Given the description of an element on the screen output the (x, y) to click on. 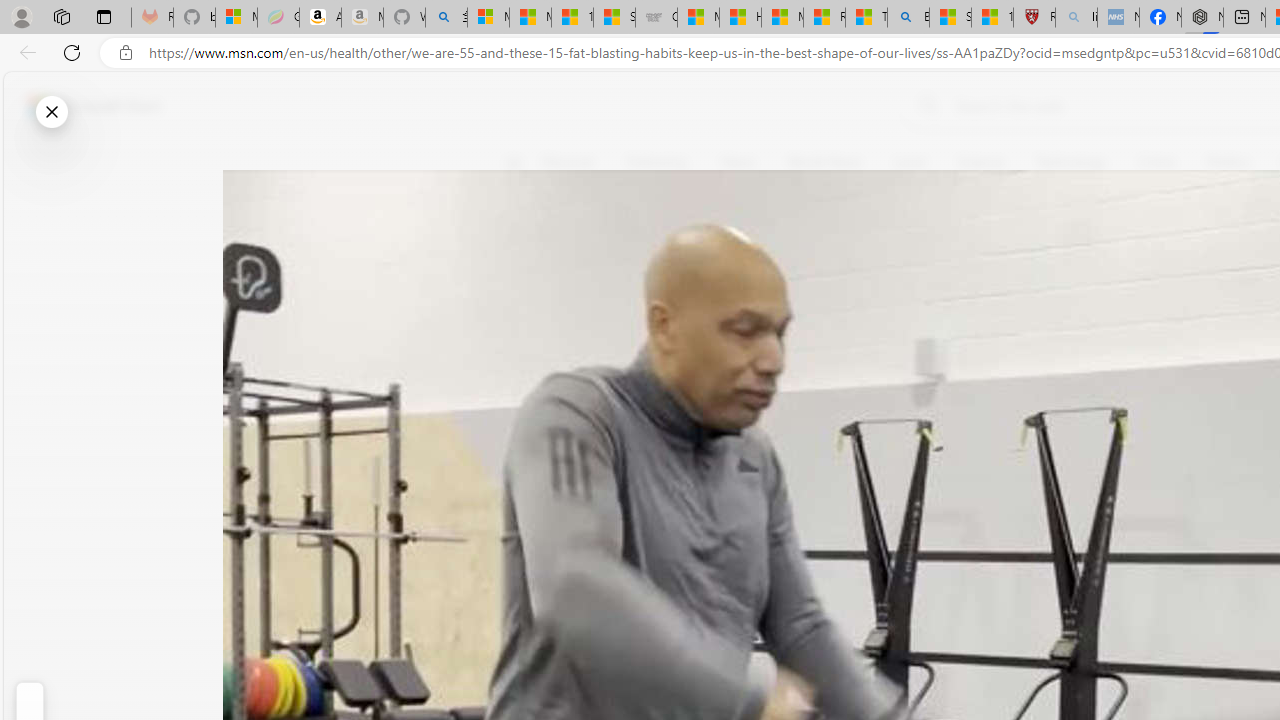
Class: at-item (525, 468)
Body Network (788, 259)
Bing (908, 17)
12 Popular Science Lies that Must be Corrected (991, 17)
